Given the description of an element on the screen output the (x, y) to click on. 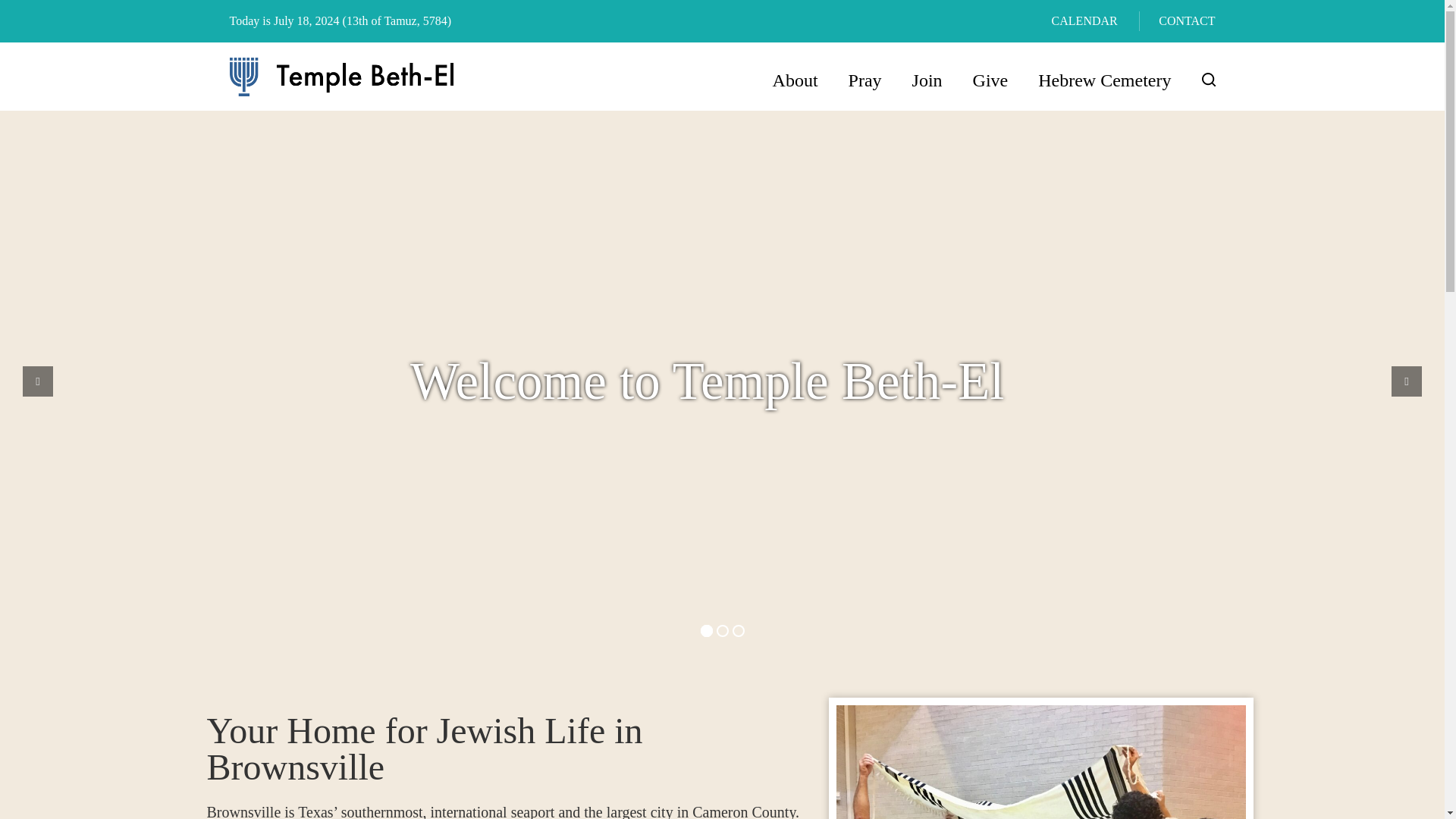
Pray (864, 80)
Give (990, 80)
Join (927, 80)
About (794, 80)
Pray (864, 80)
Give (990, 80)
CONTACT (1186, 20)
CALENDAR (1084, 20)
Hebrew Cemetery (1104, 80)
Join (927, 80)
Hebrew Cemetery (1104, 80)
Return to the homepage (340, 76)
About (794, 80)
